Given the description of an element on the screen output the (x, y) to click on. 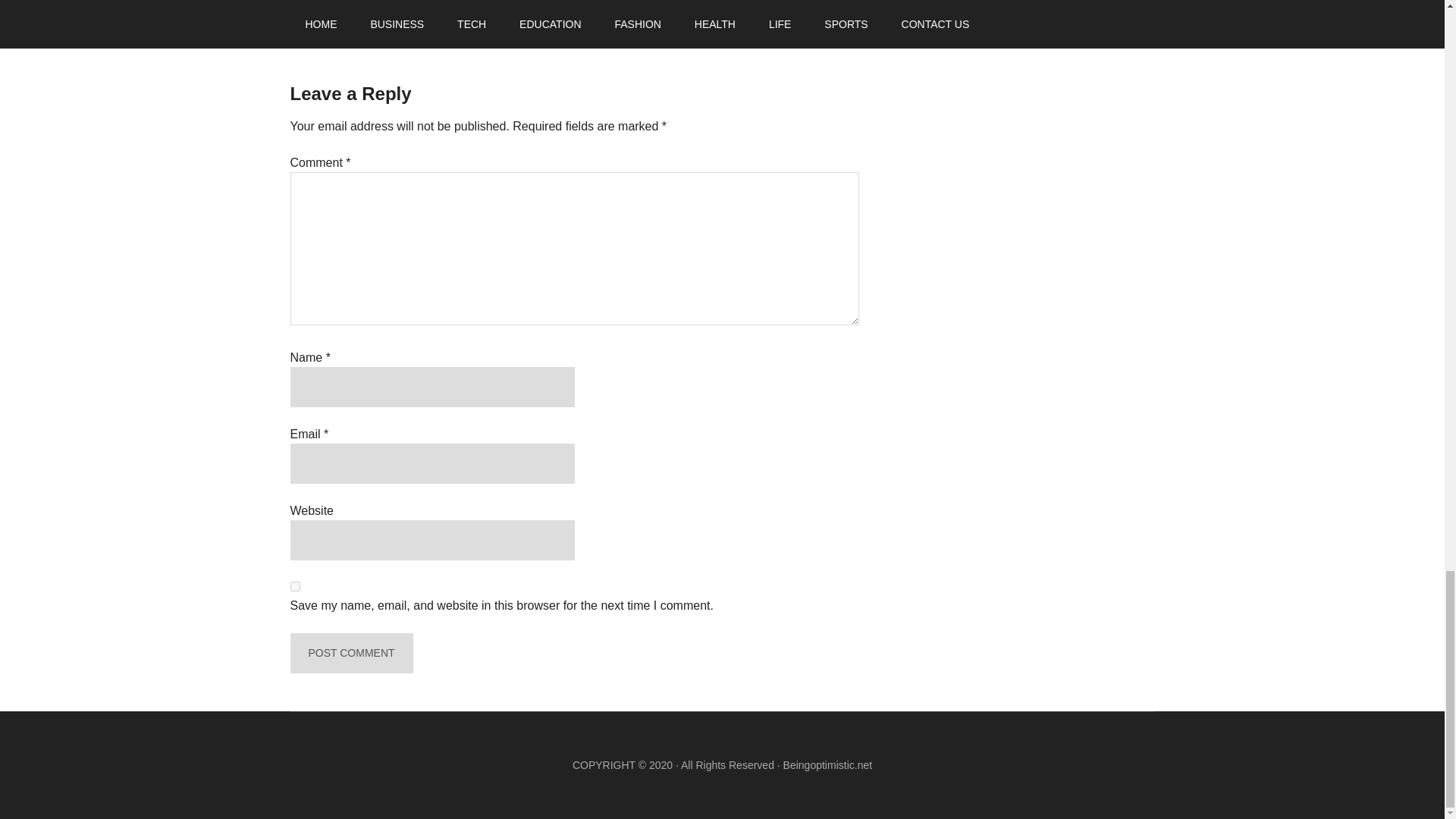
Post Comment (350, 653)
Beingoptimistic.net (827, 765)
Post Comment (350, 653)
yes (294, 586)
